Given the description of an element on the screen output the (x, y) to click on. 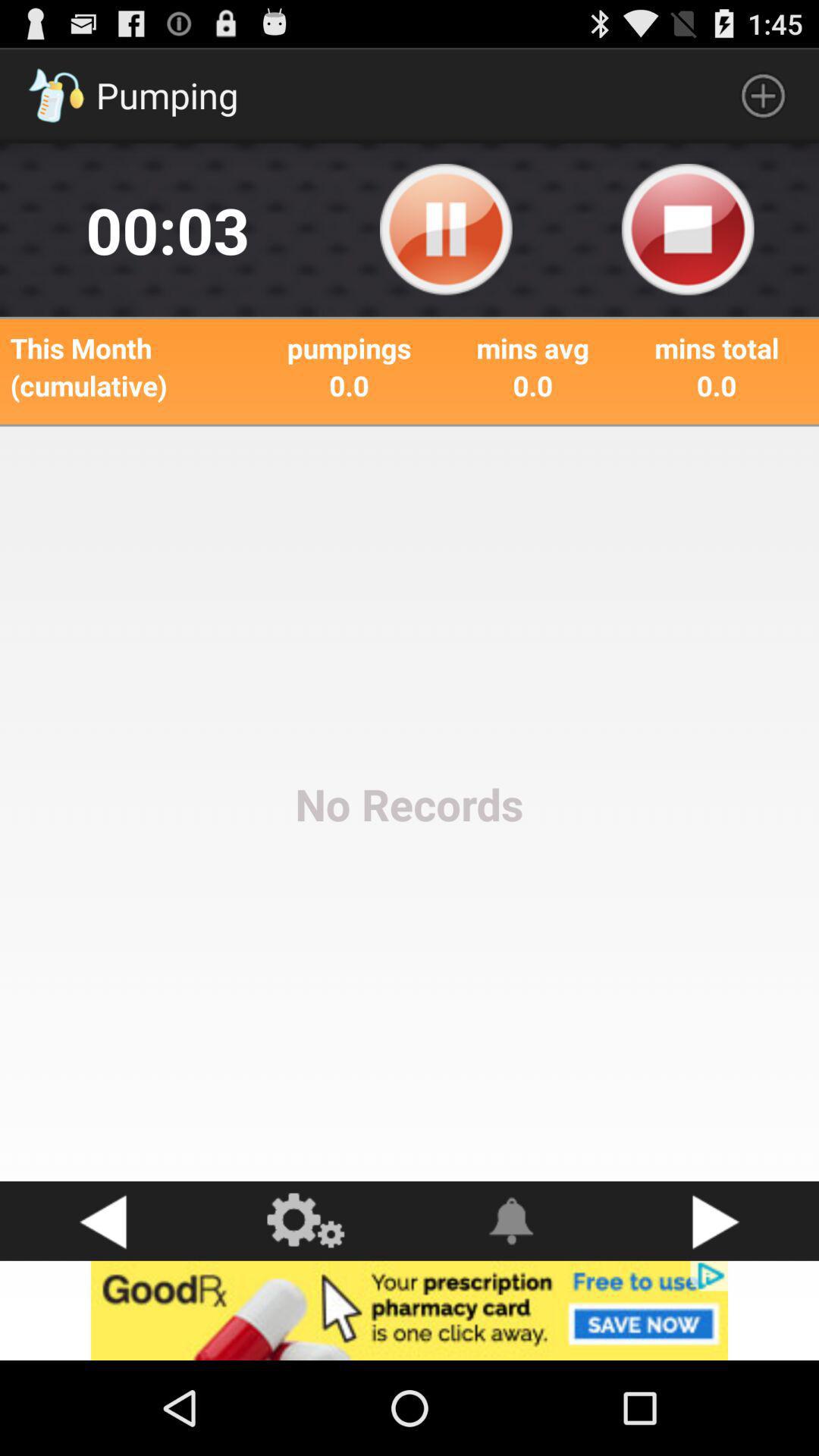
add good rx (409, 1310)
